Given the description of an element on the screen output the (x, y) to click on. 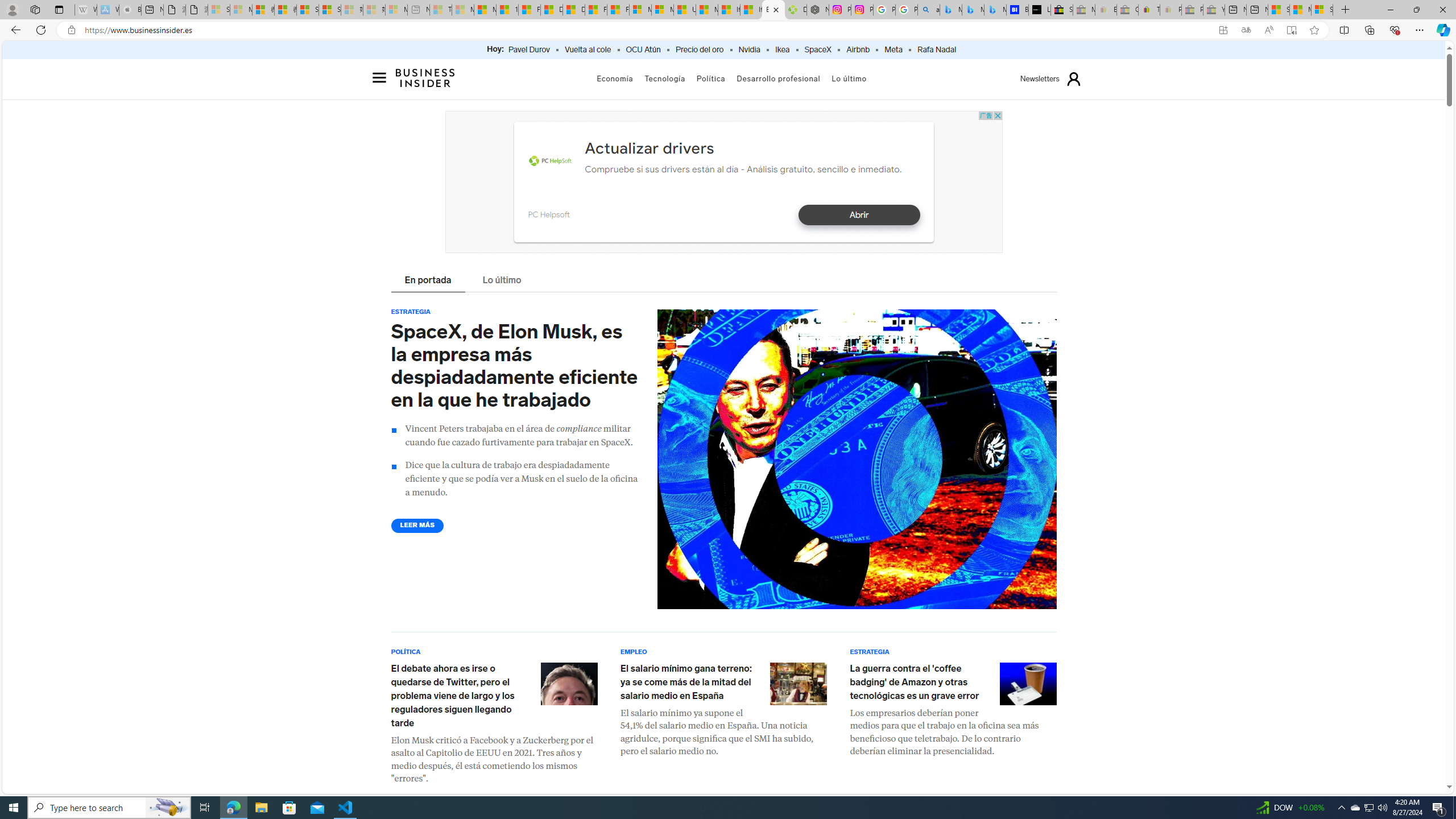
PC Helpsoft (548, 214)
Drinking tea every day is proven to delay biological aging (573, 9)
Pavel Durov (528, 49)
Microsoft account | Account Checkup - Sleeping (396, 9)
Vuelta al cole (587, 49)
US Heat Deaths Soared To Record High Last Year (684, 9)
Food and Drink - MSN (529, 9)
